Given the description of an element on the screen output the (x, y) to click on. 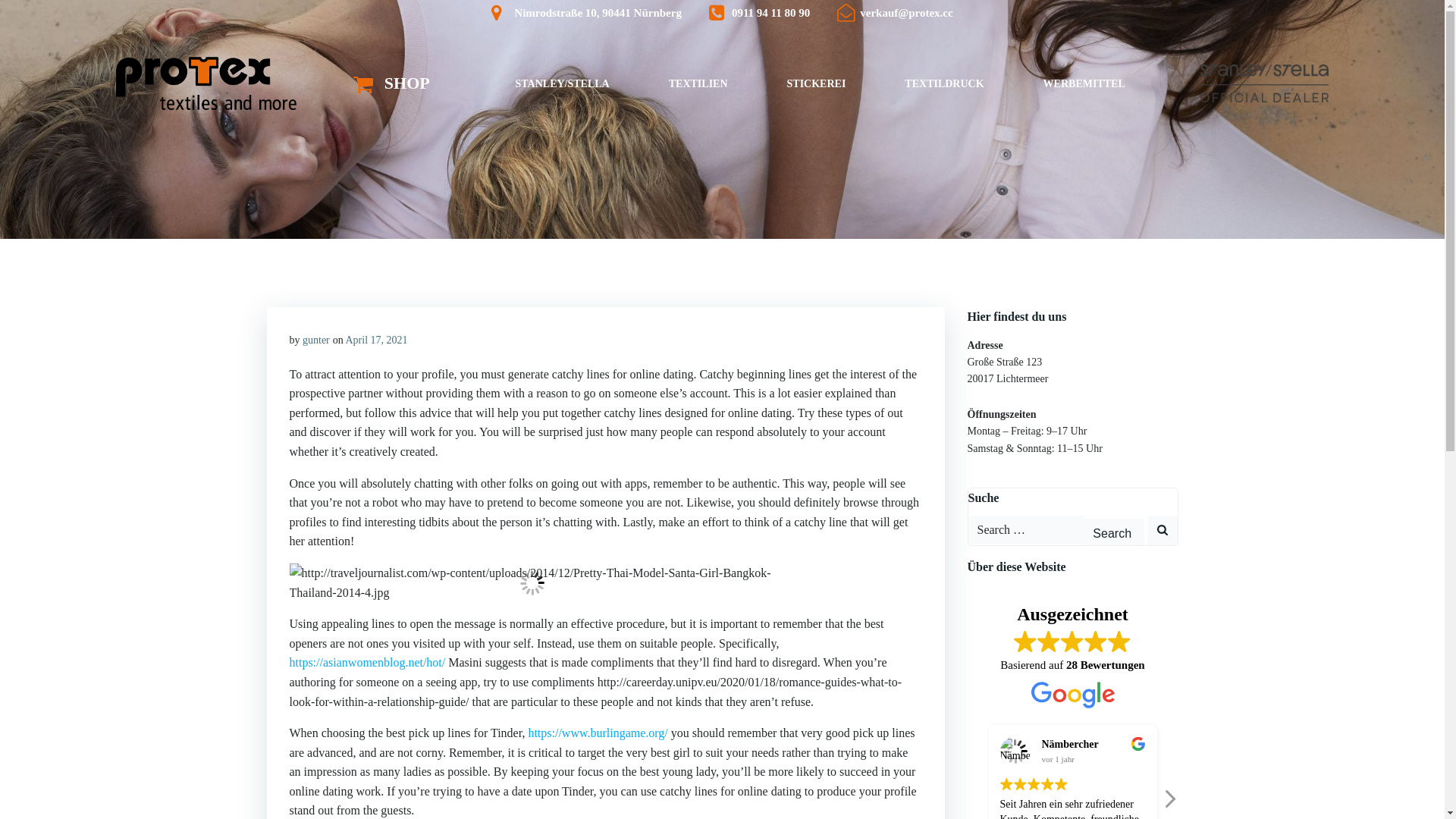
Search  (1112, 532)
TEXTILIEN (698, 83)
Search  (1112, 532)
STICKEREI (816, 83)
SHOP (390, 83)
TEXTILDRUCK (944, 83)
gunter (316, 339)
Search  (1112, 532)
WERBEMITTEL (1084, 83)
April 17, 2021 (376, 339)
